Given the description of an element on the screen output the (x, y) to click on. 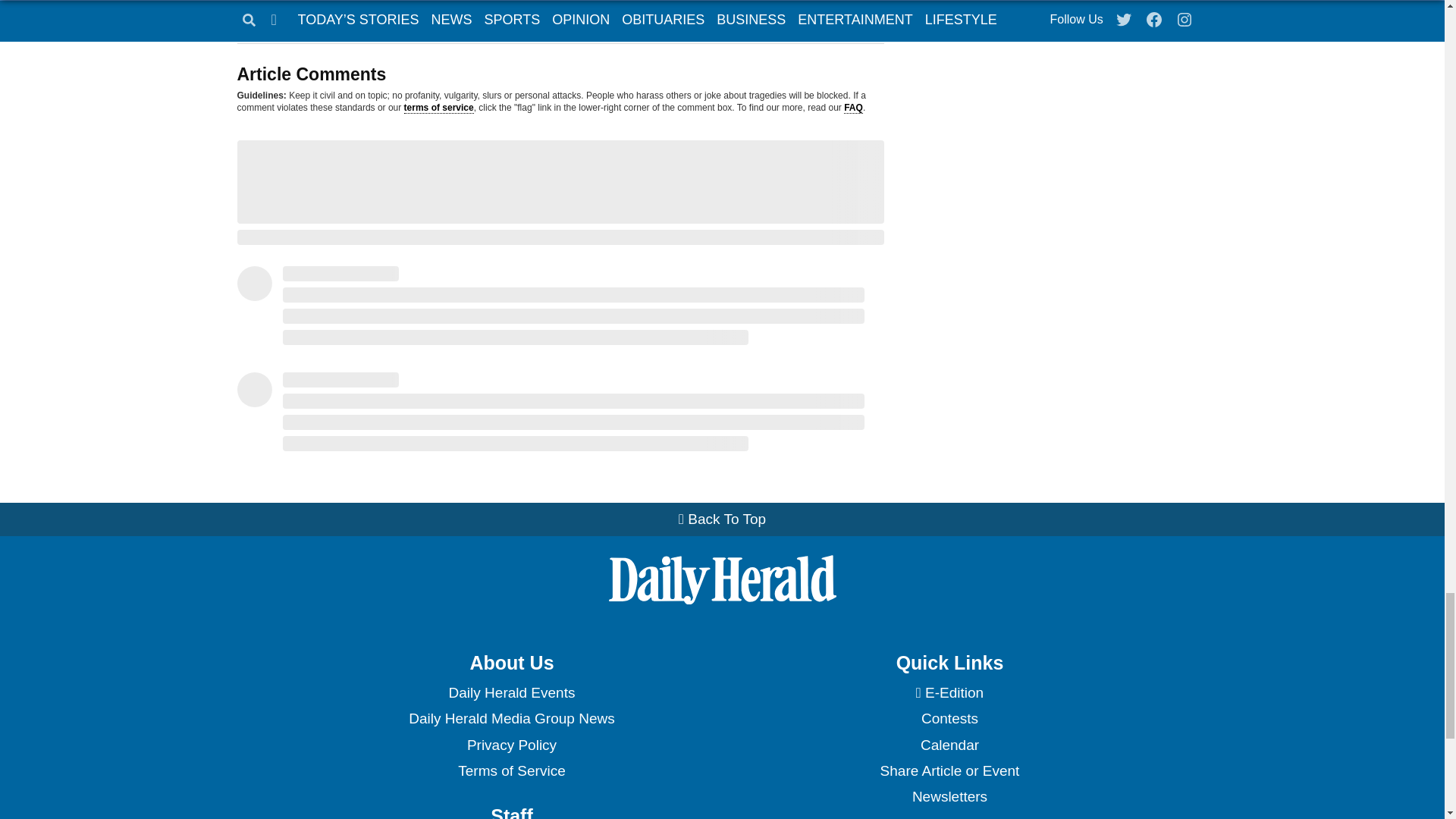
Daily Herald Media Group News (511, 718)
Privacy Policy (511, 745)
Terms of Service (511, 770)
Daily Herald Digital Newspaper (949, 692)
Daily Herald Events (511, 692)
